Given the description of an element on the screen output the (x, y) to click on. 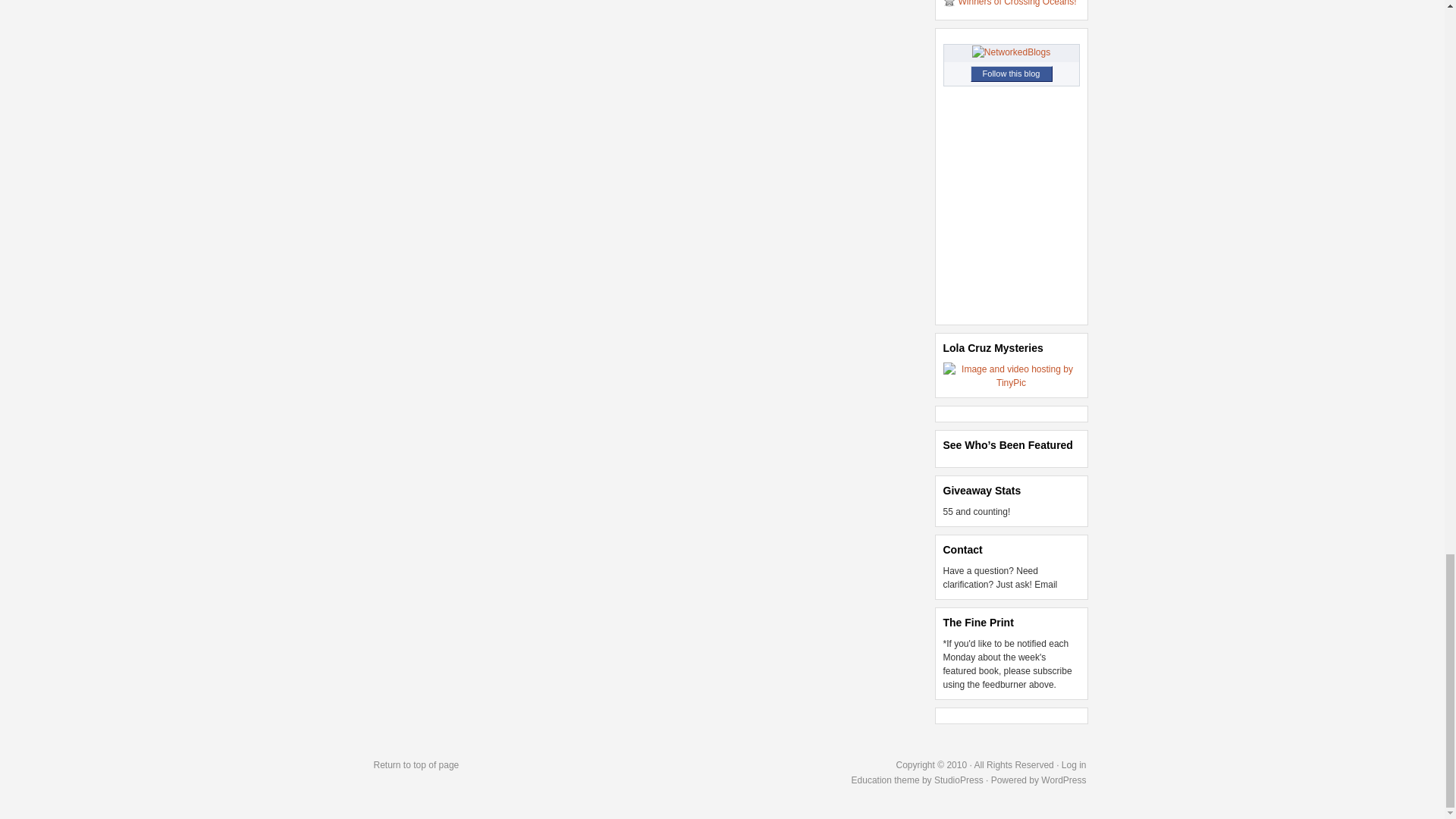
Winners of Crossing Oceans! (1017, 3)
